Given the description of an element on the screen output the (x, y) to click on. 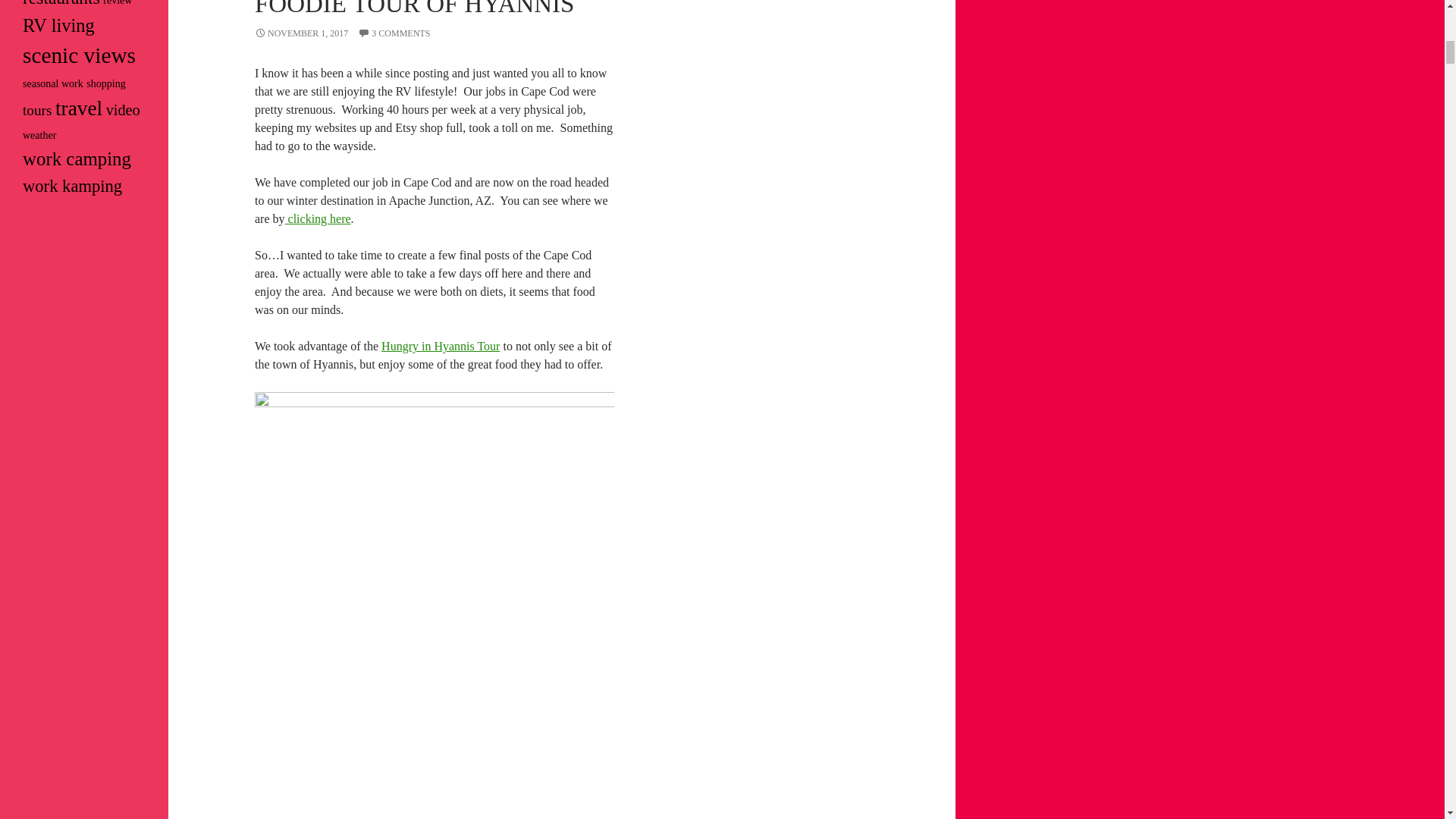
Hungry in Hyannis Tour (440, 345)
FOODIE TOUR OF HYANNIS (413, 8)
NOVEMBER 1, 2017 (300, 32)
3 COMMENTS (393, 32)
clicking here (317, 218)
